Given the description of an element on the screen output the (x, y) to click on. 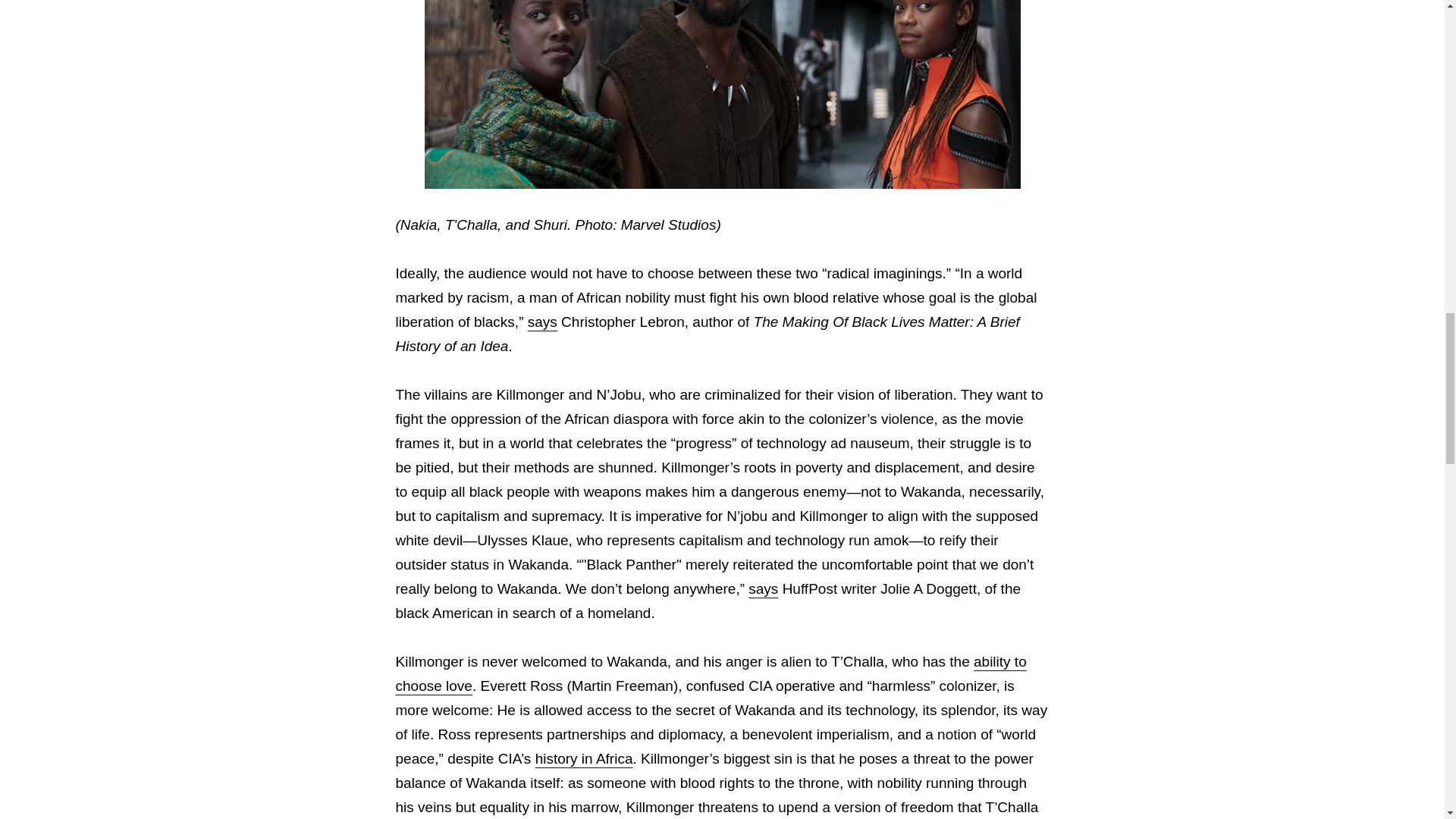
says (542, 321)
history in Africa (584, 758)
says (762, 588)
ability to choose love (711, 673)
